Given the description of an element on the screen output the (x, y) to click on. 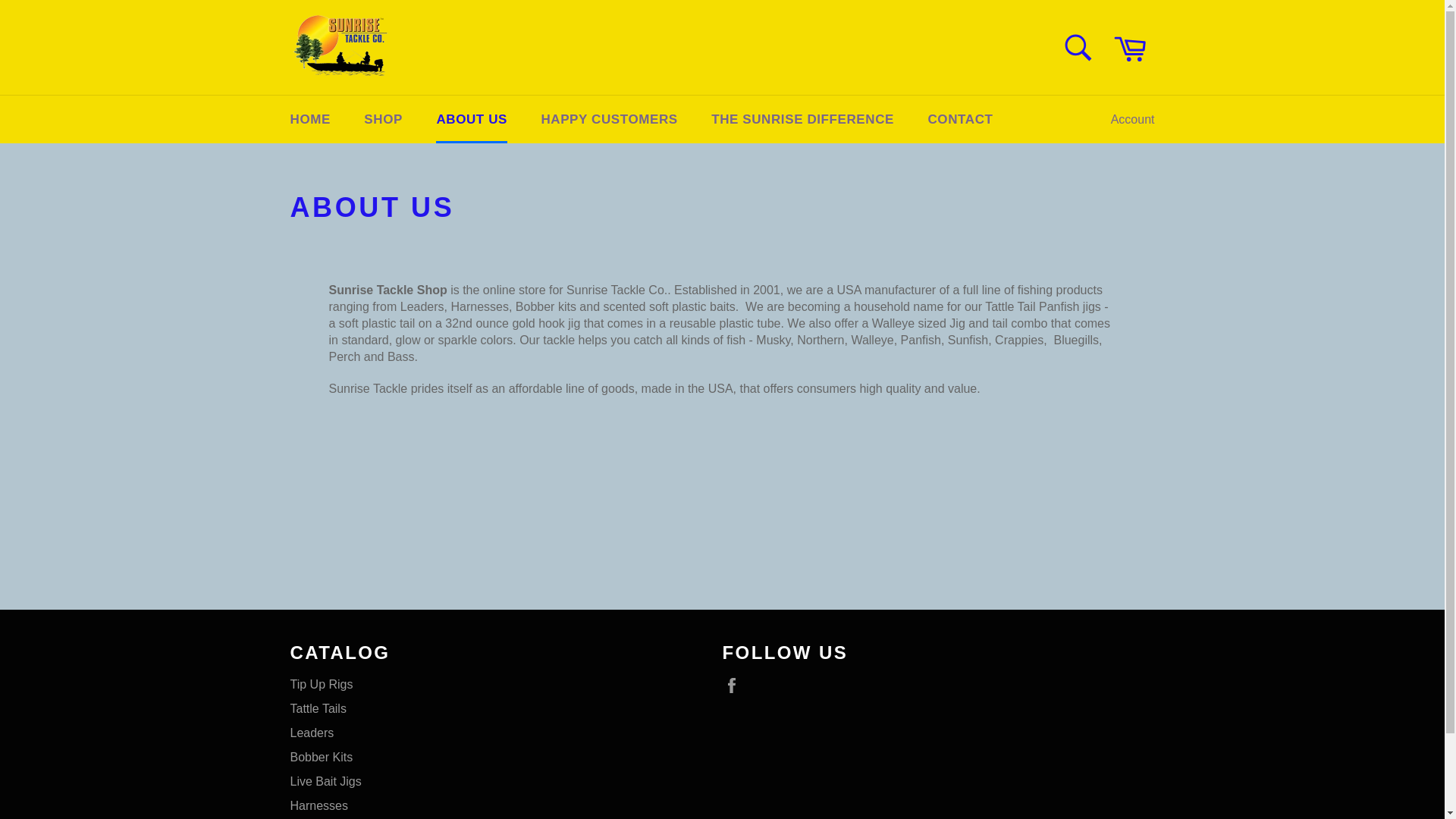
Bobber Kits (320, 757)
Account (1132, 119)
Facebook (735, 685)
HOME (310, 119)
Leaders (311, 732)
Harnesses (318, 805)
SHOP (383, 119)
Live Bait Jigs (325, 780)
Sunrise Tackle Shop on Facebook (735, 685)
THE SUNRISE DIFFERENCE (801, 119)
